Given the description of an element on the screen output the (x, y) to click on. 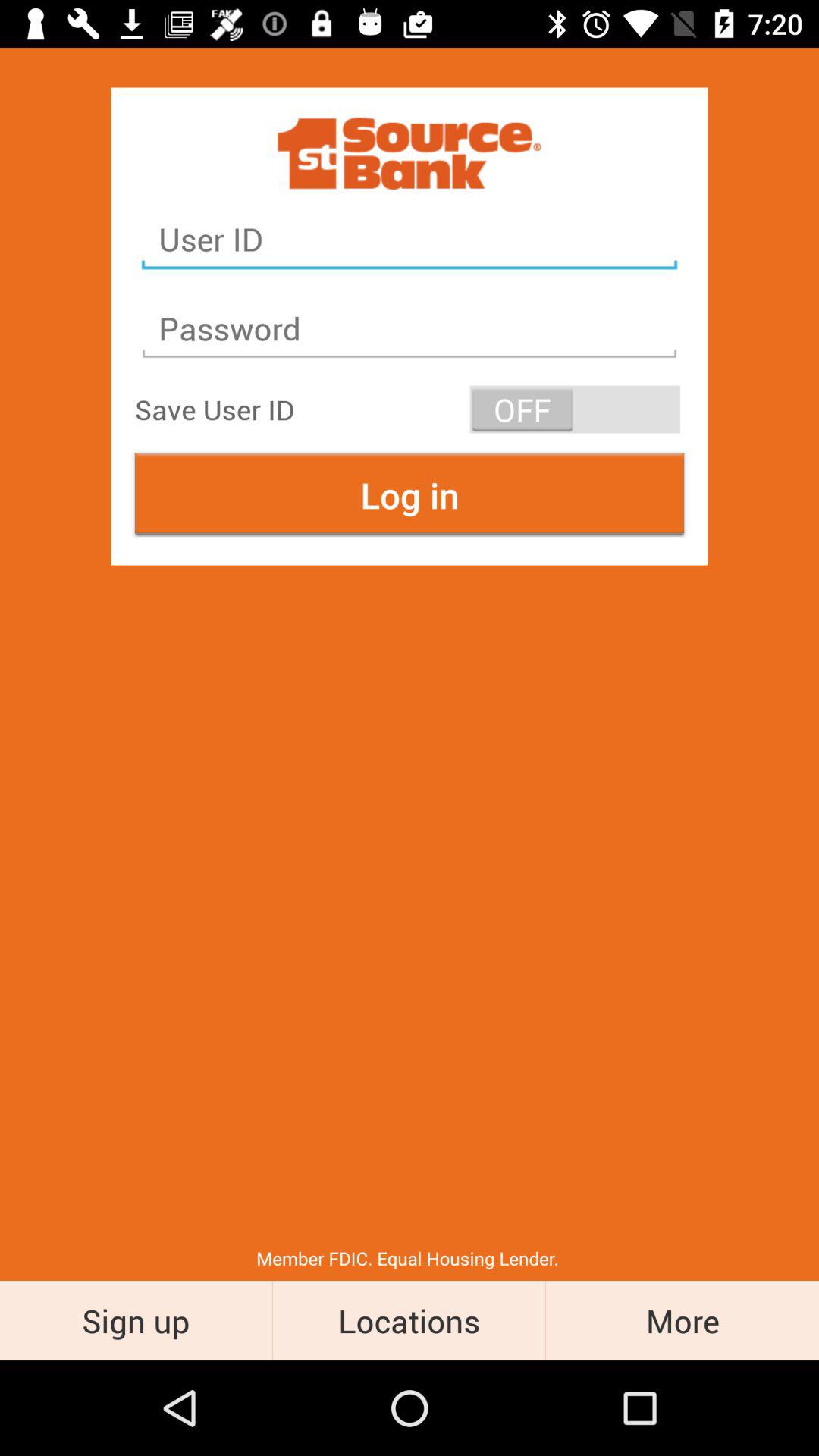
tap the item below member fdic equal item (682, 1320)
